Given the description of an element on the screen output the (x, y) to click on. 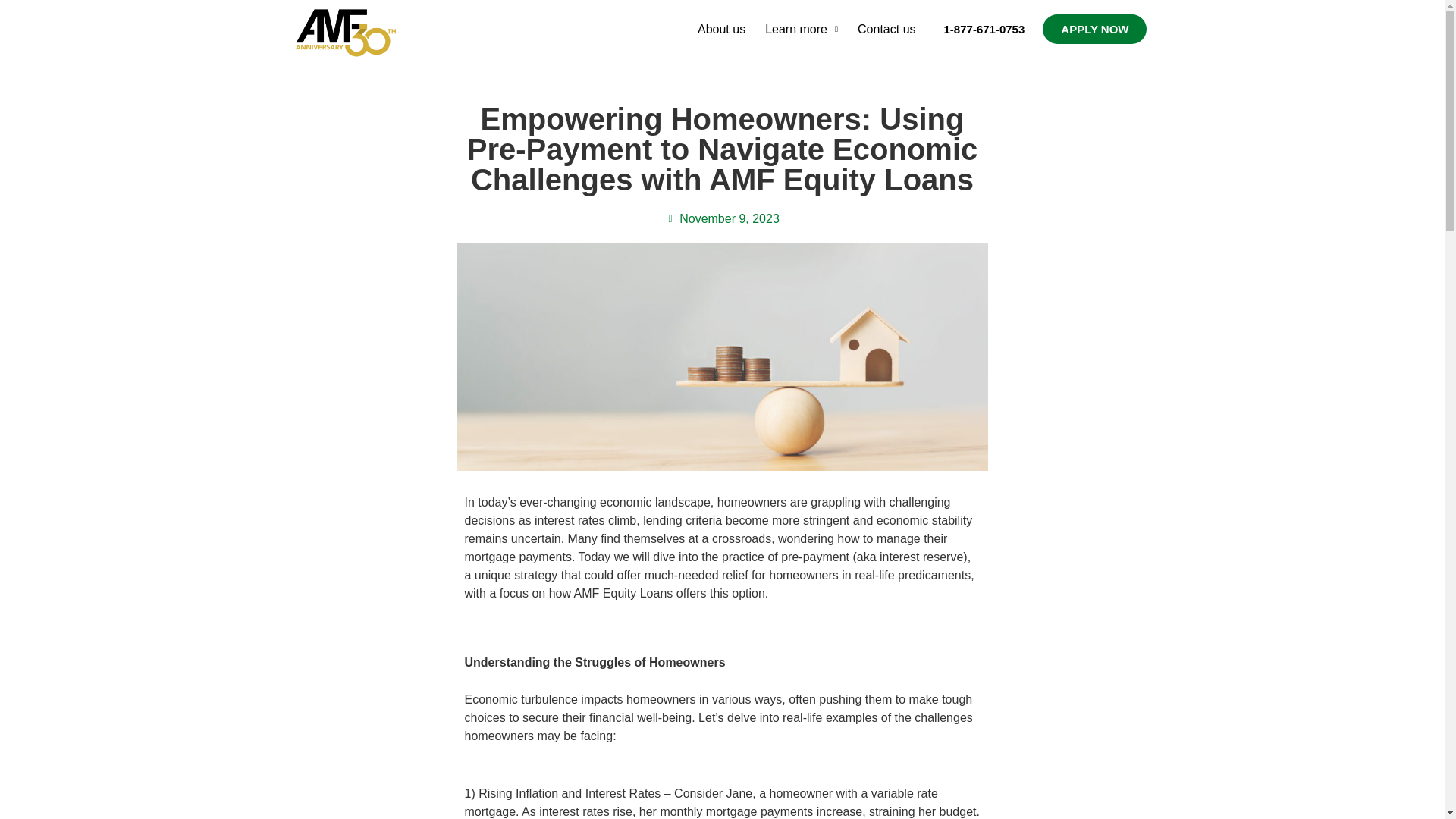
1-877-671-0753 (984, 29)
Contact us (885, 29)
APPLY NOW (1094, 29)
Learn more (801, 29)
About us (721, 29)
